Given the description of an element on the screen output the (x, y) to click on. 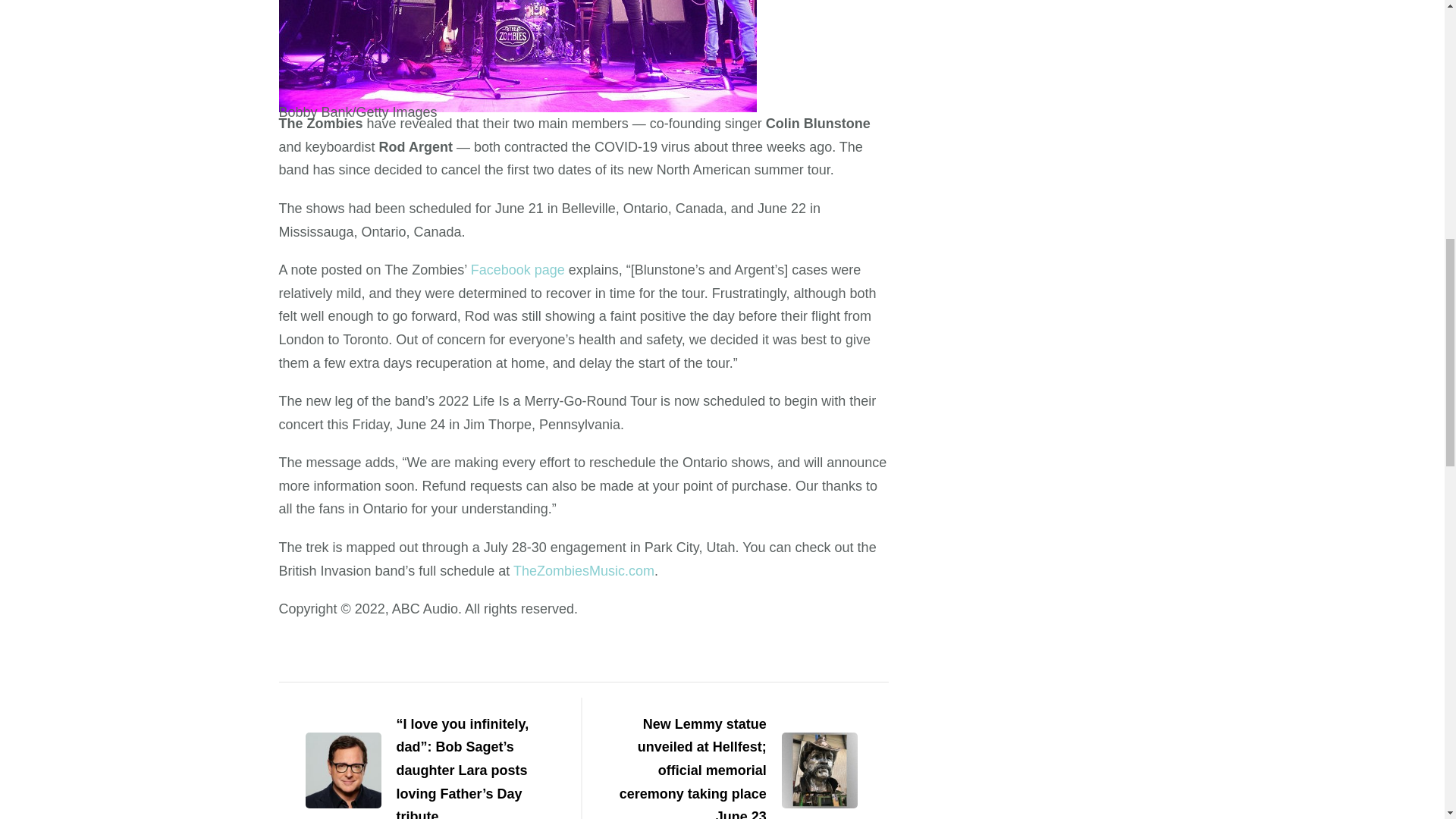
TheZombiesMusic.com (583, 570)
Facebook page (517, 269)
